Given the description of an element on the screen output the (x, y) to click on. 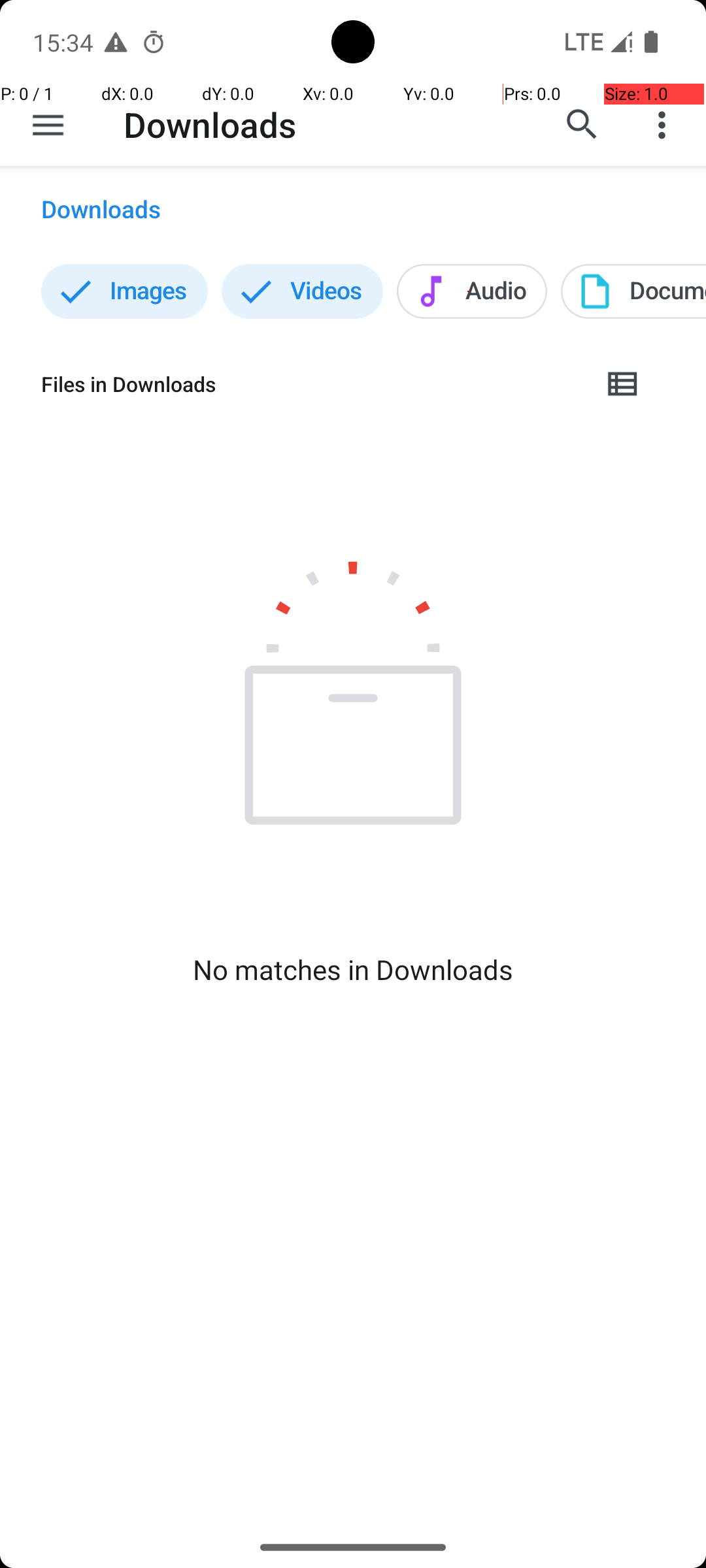
No matches in Downloads Element type: android.widget.TextView (352, 968)
